Given the description of an element on the screen output the (x, y) to click on. 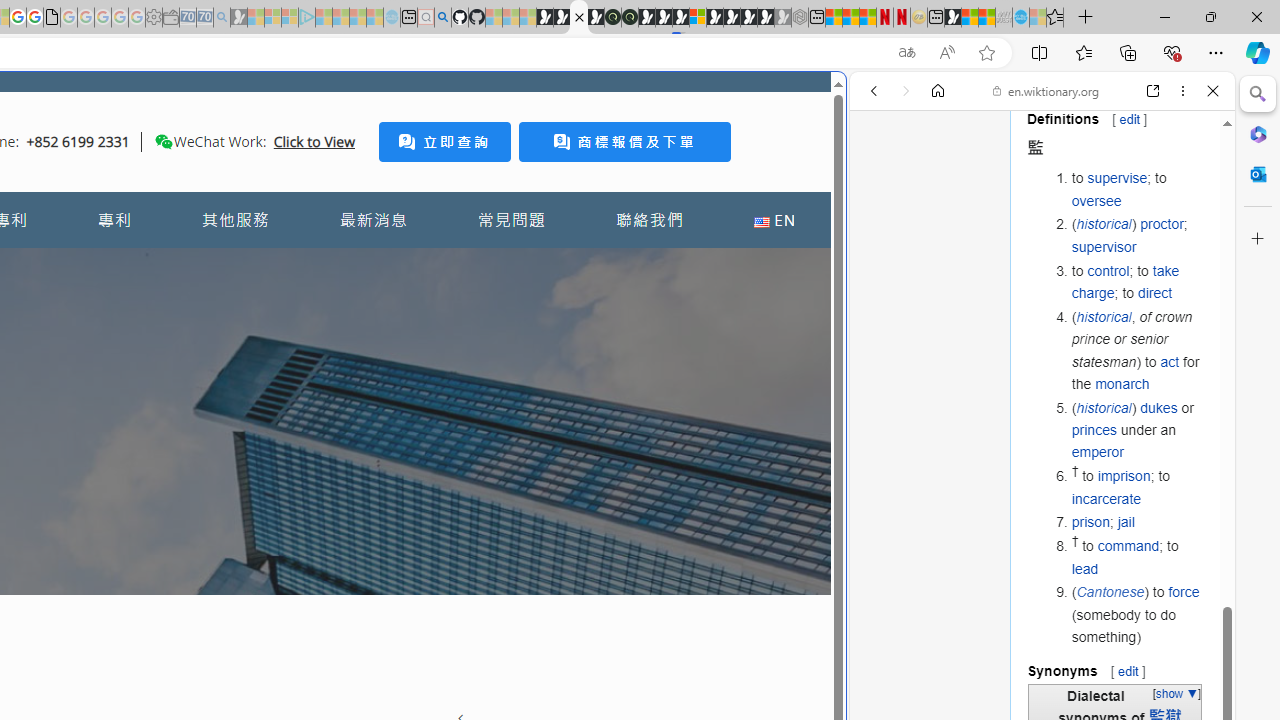
New tab (936, 17)
VIDEOS (1006, 228)
Forward (906, 91)
google_privacy_policy_zh-CN.pdf (51, 17)
github - Search (442, 17)
supervise (1117, 178)
Favorites (1055, 17)
Microsoft account | Privacy - Sleeping (289, 17)
Open link in new tab (1153, 91)
Search or enter web address (343, 191)
Search the web (1051, 137)
Play Zoo Boom in your browser | Games from Microsoft Start (561, 17)
